Given the description of an element on the screen output the (x, y) to click on. 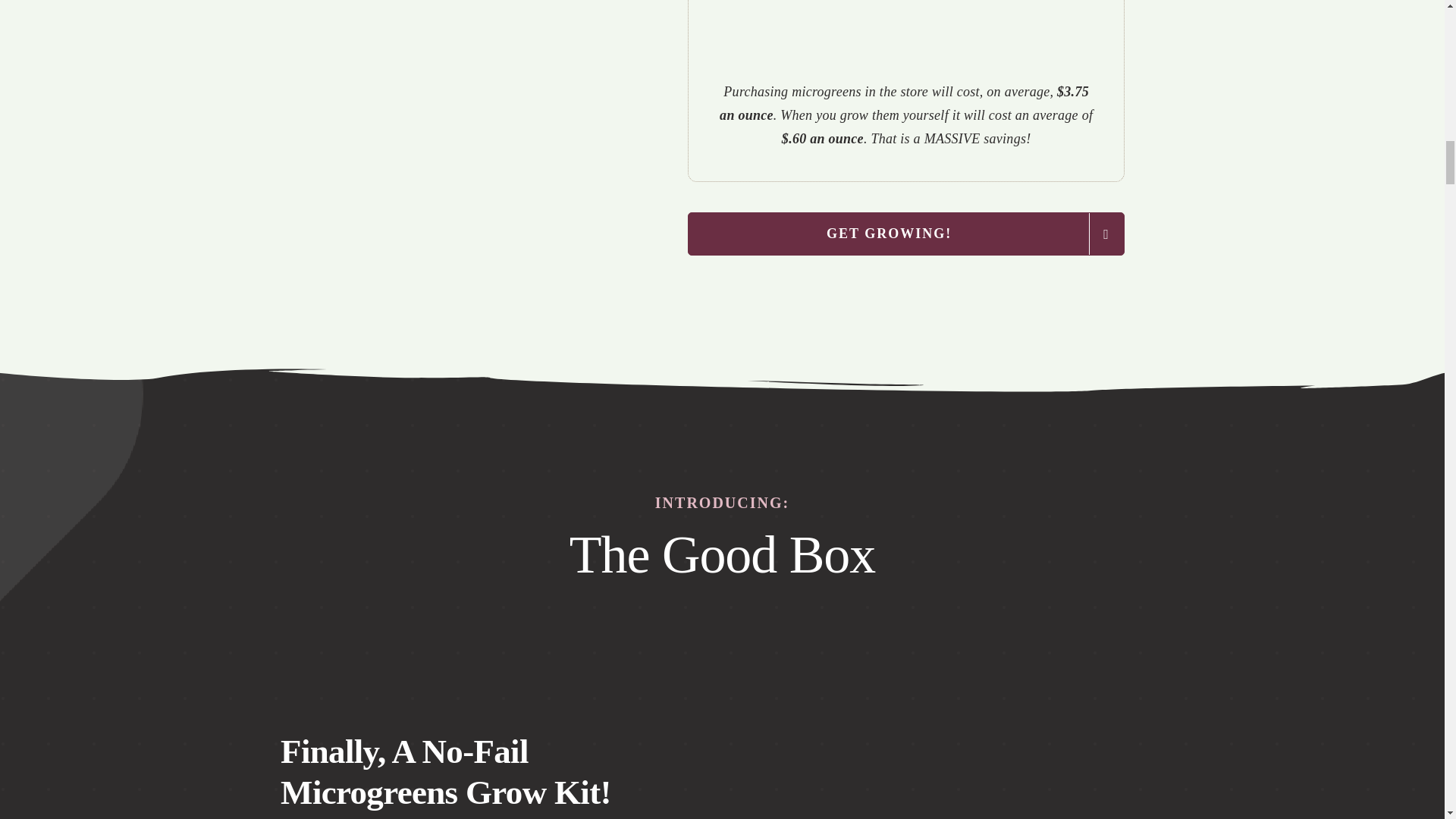
microgreen-graphic-white-background (468, 20)
GET GROWING! (905, 233)
cash-register-vs-gardening (906, 33)
